Given the description of an element on the screen output the (x, y) to click on. 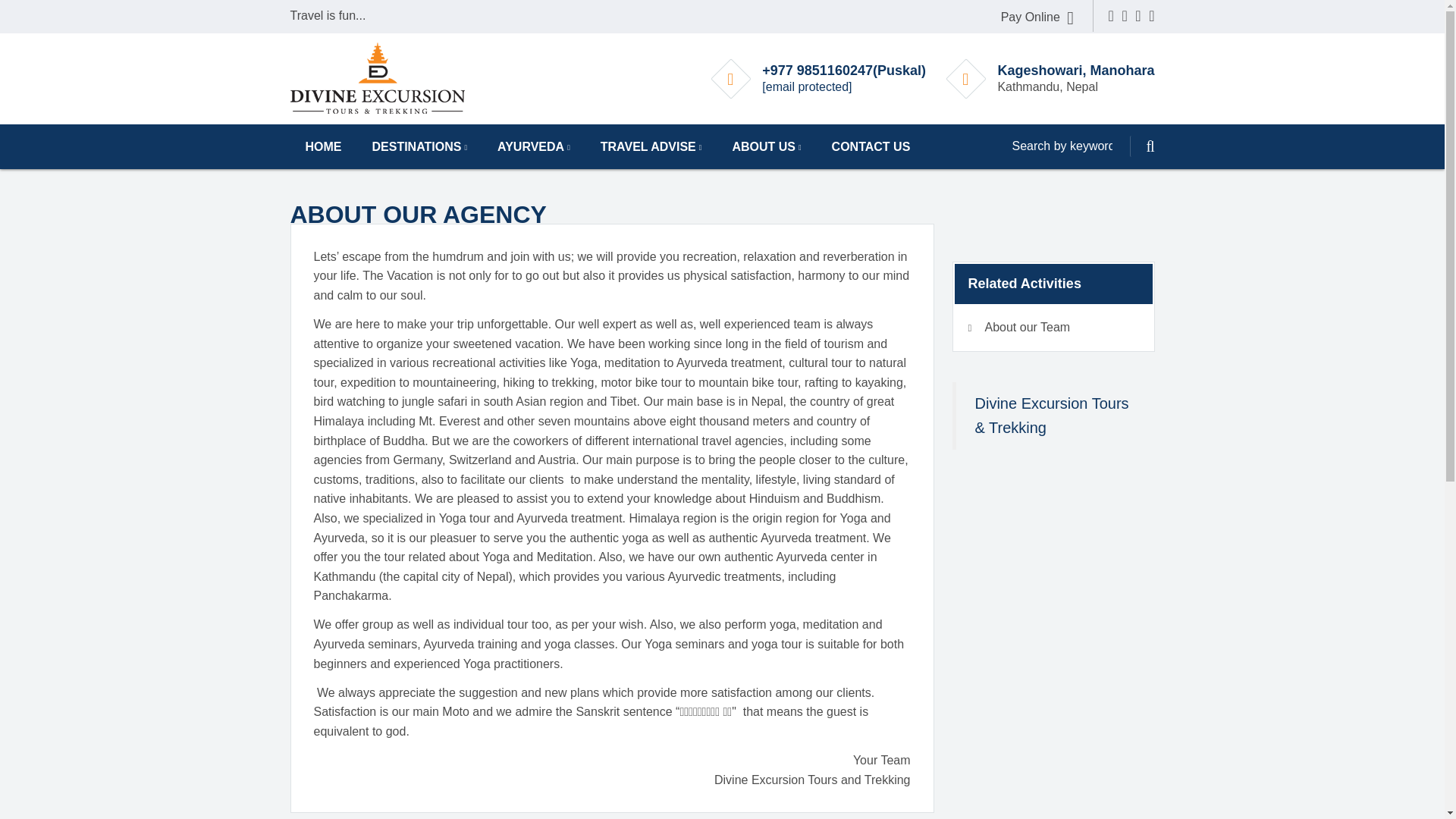
AYURVEDA (533, 146)
Pay Online (1037, 17)
HOME (322, 146)
Destinations (418, 146)
DESTINATIONS (418, 146)
